Given the description of an element on the screen output the (x, y) to click on. 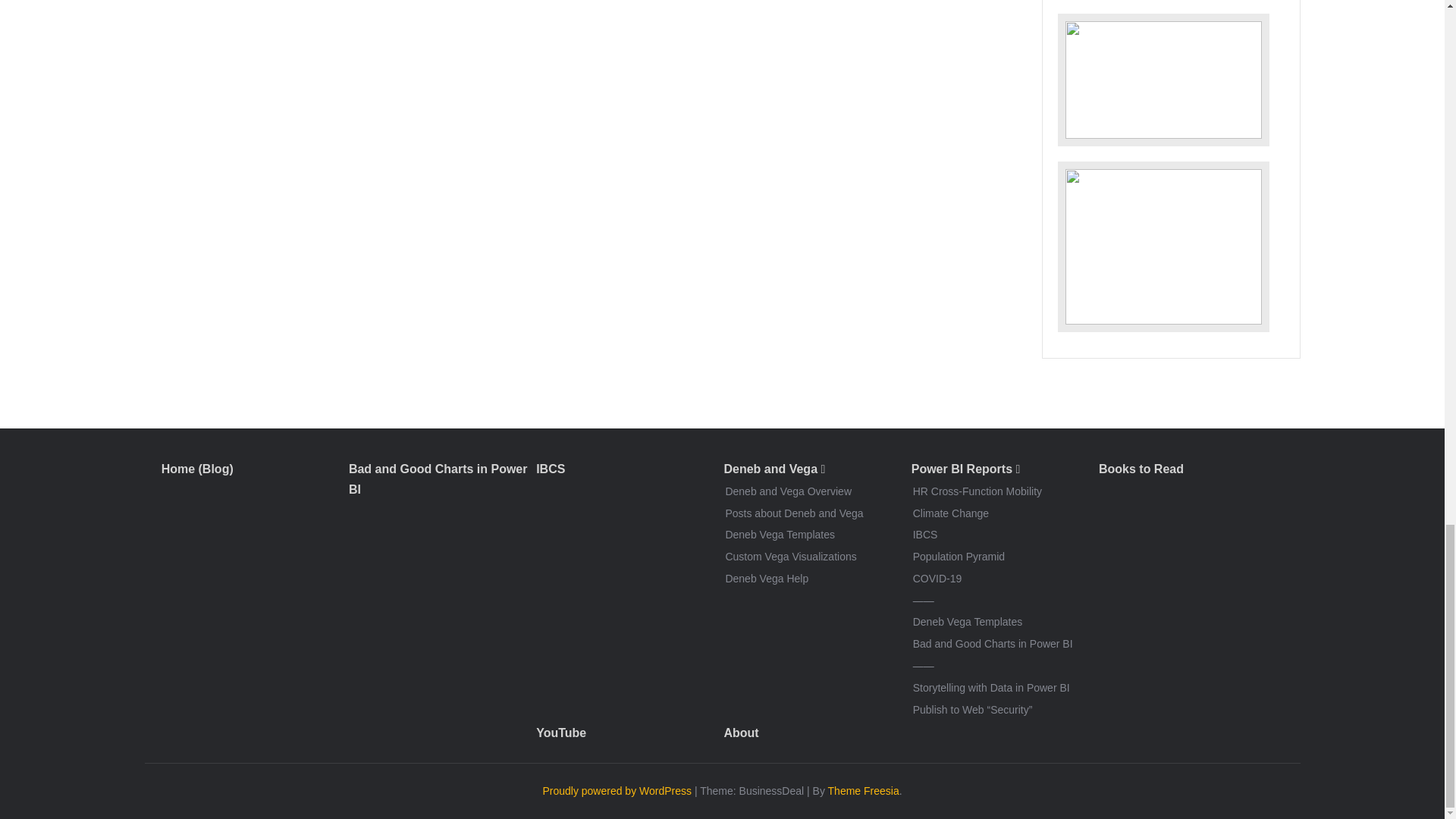
IBCS Three Tier Chart (1162, 79)
